Given the description of an element on the screen output the (x, y) to click on. 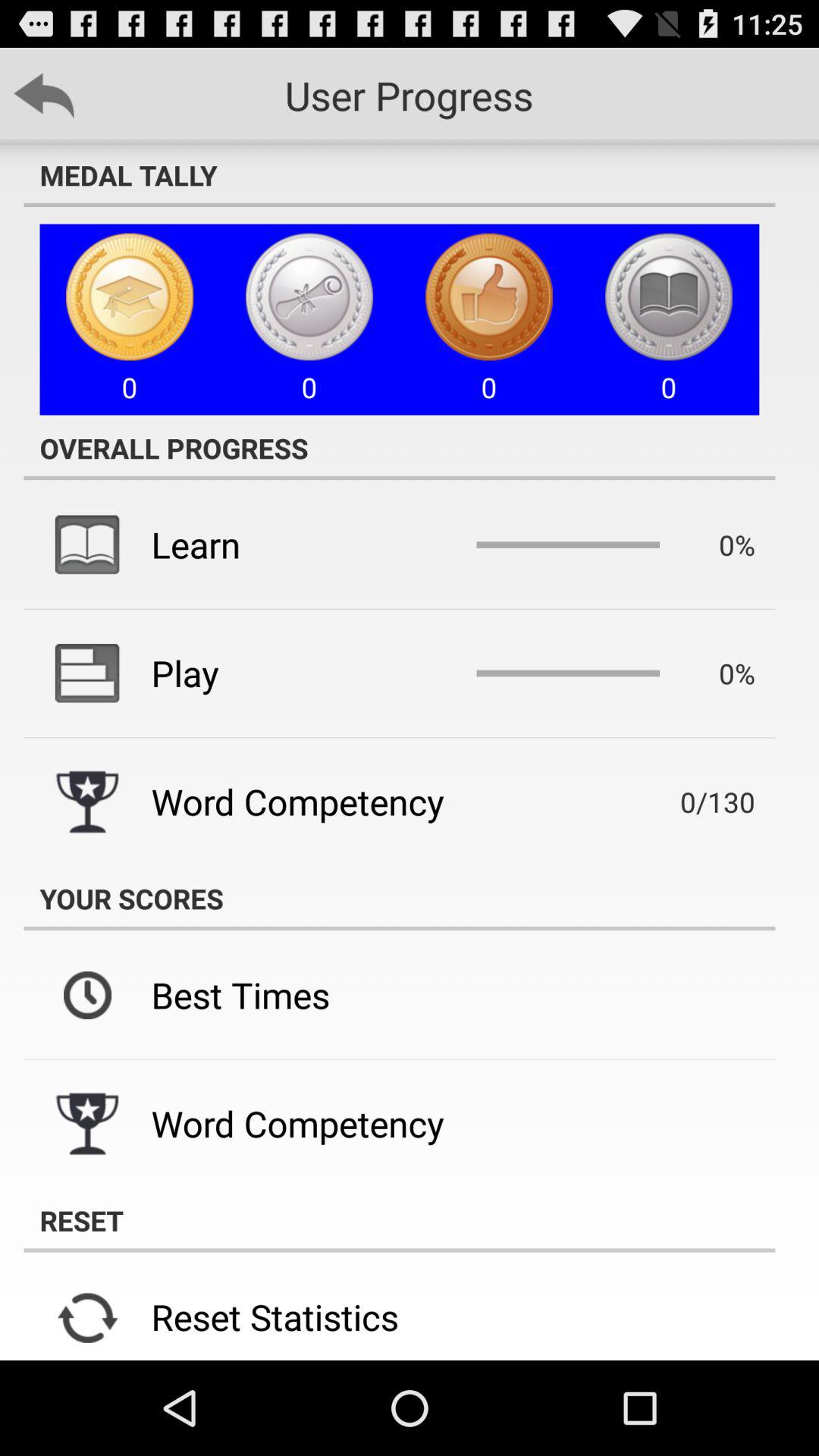
open best times (240, 994)
